Given the description of an element on the screen output the (x, y) to click on. 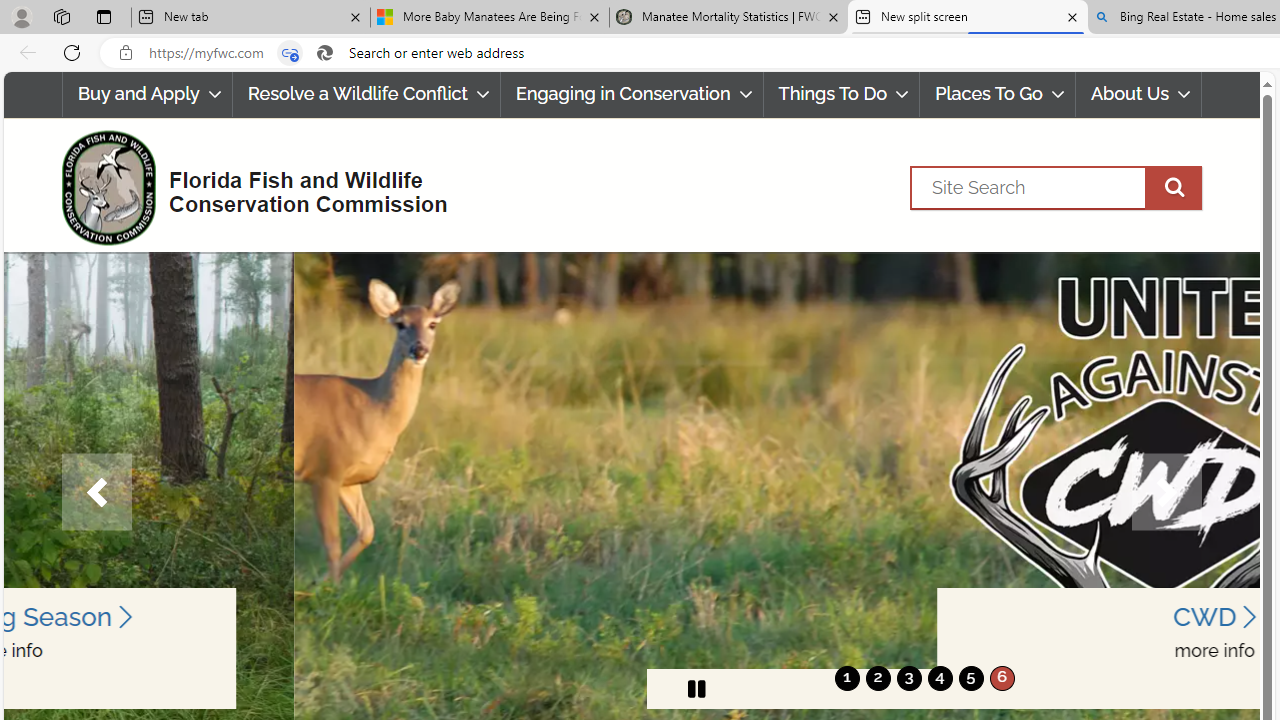
6 (1002, 678)
5 (970, 678)
move to slide 5 (970, 678)
move to slide 1 (847, 678)
move to slide 6 (1002, 678)
About Us (1138, 94)
About Us (1139, 94)
Places To Go (998, 94)
CWD  (924, 616)
3 (908, 678)
Manatee Mortality Statistics | FWC (729, 17)
